Given the description of an element on the screen output the (x, y) to click on. 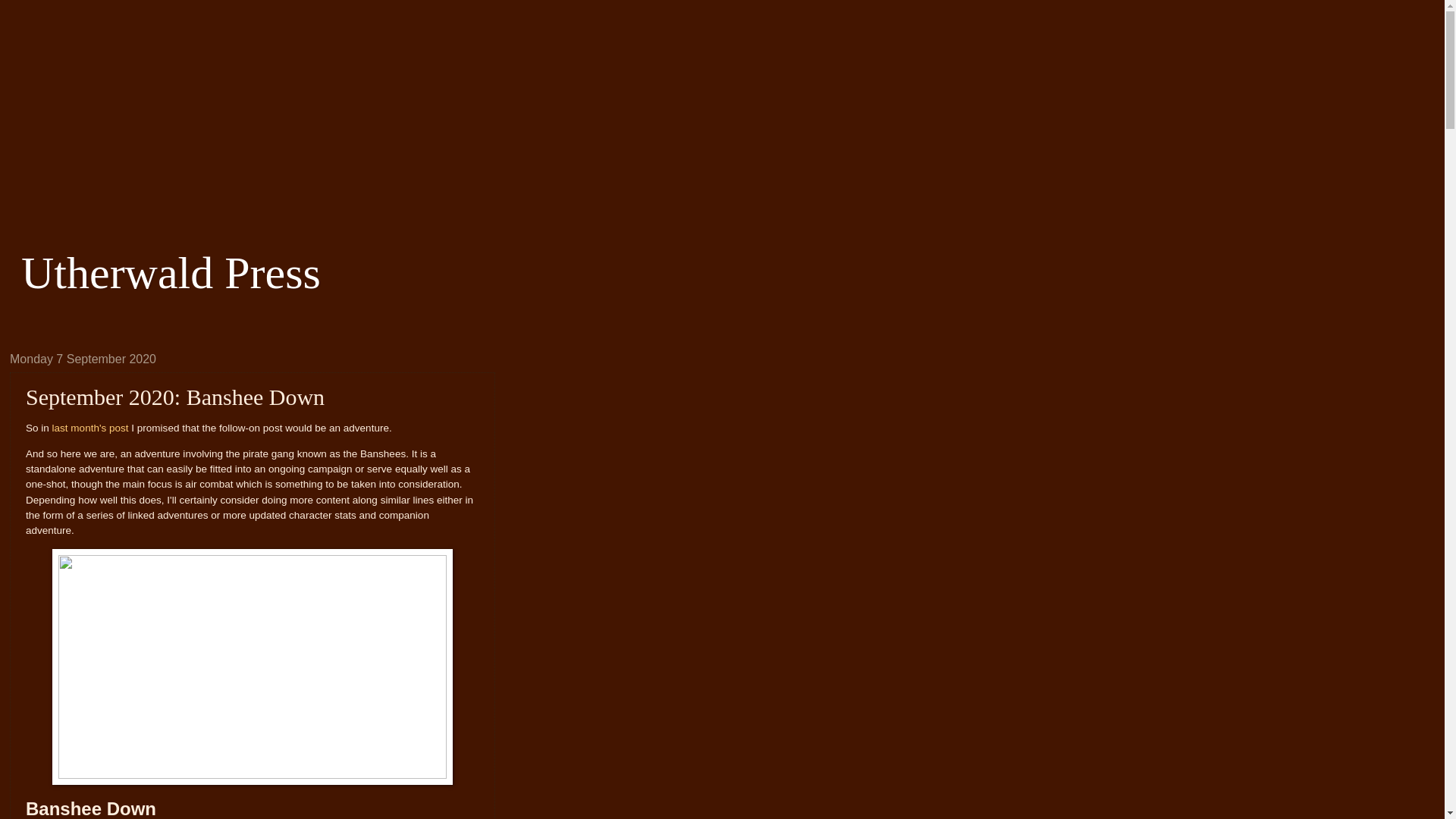
Utherwald Press (170, 273)
last month's post (90, 428)
